Given the description of an element on the screen output the (x, y) to click on. 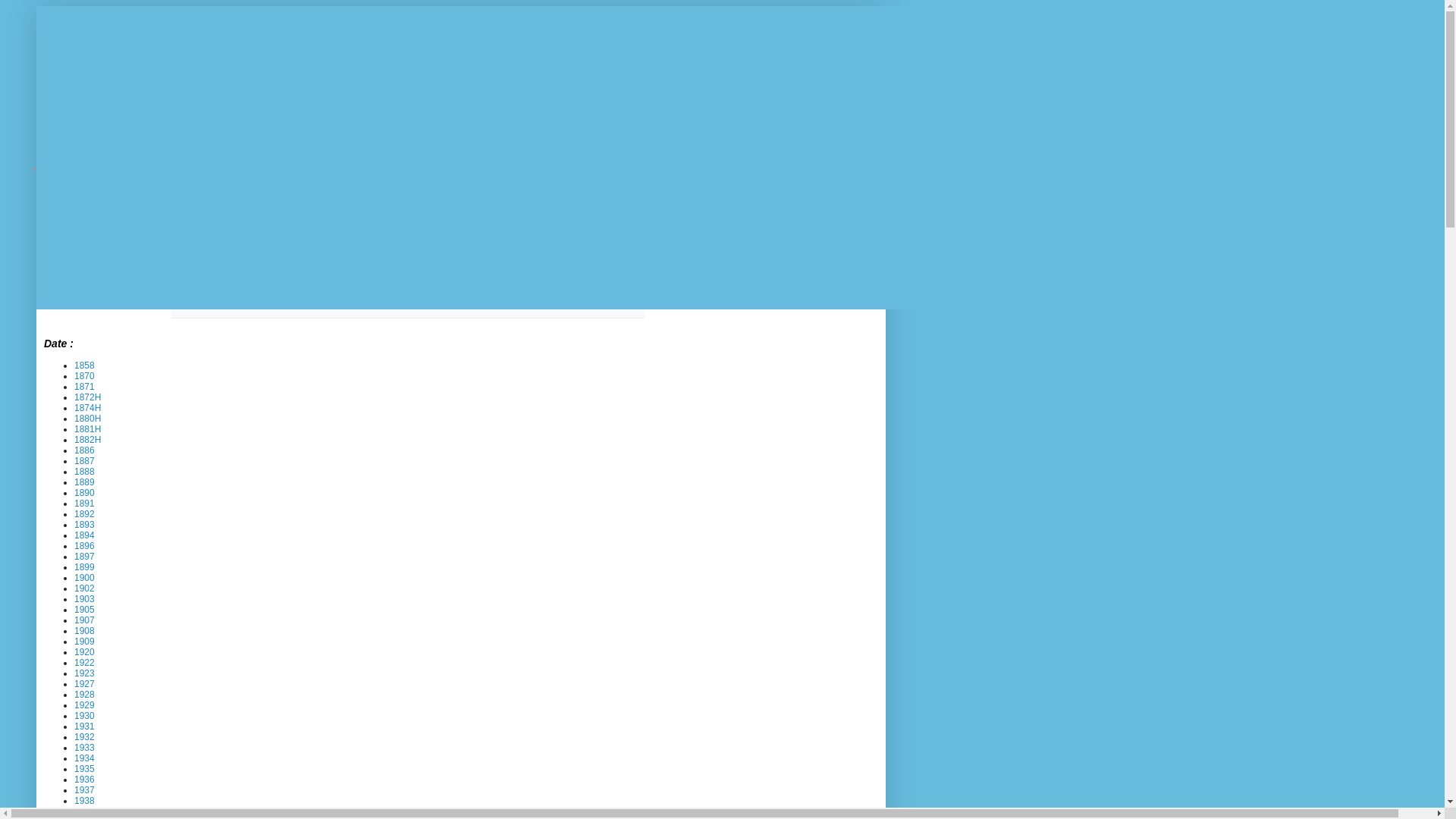
1882H Element type: text (87, 439)
1881H Element type: text (87, 428)
1909 Element type: text (84, 641)
1907 Element type: text (84, 620)
1931 Element type: text (84, 726)
1929 Element type: text (84, 704)
1900 Element type: text (84, 577)
1880H Element type: text (87, 418)
Forum Element type: text (353, 168)
1935 Element type: text (84, 768)
1940 Element type: text (84, 811)
1903 Element type: text (84, 598)
1897 Element type: text (84, 556)
1870 Element type: text (84, 375)
1933 Element type: text (84, 747)
1886 Element type: text (84, 450)
Accueil (Home) Element type: text (93, 168)
1858 Element type: text (84, 365)
1934 Element type: text (84, 758)
1922 Element type: text (84, 662)
1874H Element type: text (87, 407)
1902 Element type: text (84, 588)
1891 Element type: text (84, 503)
1936 Element type: text (84, 779)
1894 Element type: text (84, 535)
1893 Element type: text (84, 524)
1892 Element type: text (84, 513)
1923 Element type: text (84, 673)
1938 Element type: text (84, 800)
1890 Element type: text (84, 492)
1908 Element type: text (84, 630)
1888 Element type: text (84, 471)
1871 Element type: text (84, 386)
1896 Element type: text (84, 545)
1872H Element type: text (87, 397)
1905 Element type: text (84, 609)
1937 Element type: text (84, 789)
1887 Element type: text (84, 460)
1930 Element type: text (84, 715)
1927 Element type: text (84, 683)
1889 Element type: text (84, 481)
 Voir Messages (See Discussion) Element type: text (267, 284)
1932 Element type: text (84, 736)
1920 Element type: text (84, 651)
1899 Element type: text (84, 566)
1928 Element type: text (84, 694)
